Given the description of an element on the screen output the (x, y) to click on. 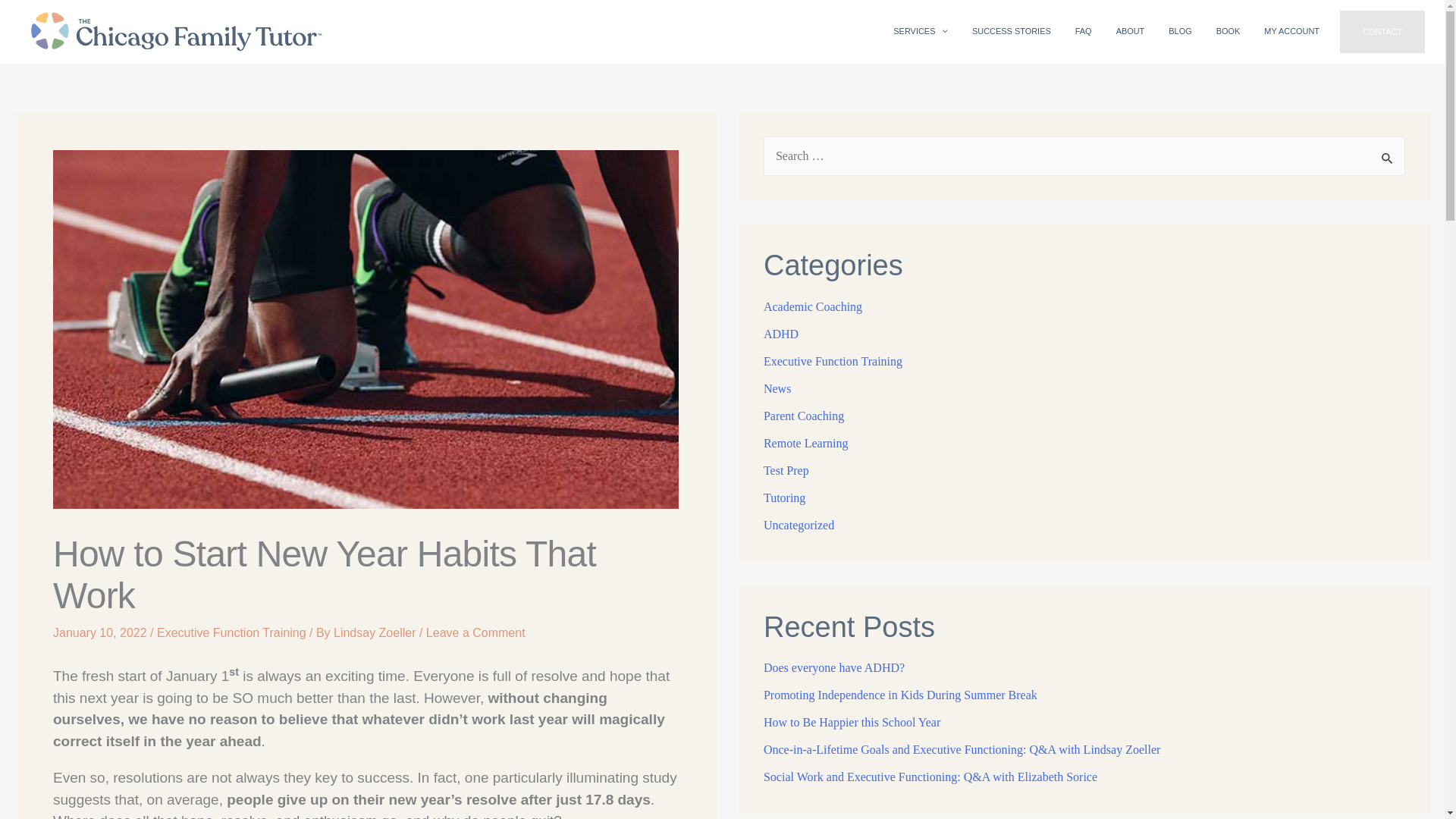
View all posts by Lindsay Zoeller (376, 632)
ABOUT (1130, 31)
SUCCESS STORIES (1010, 31)
CONTACT (1382, 31)
SERVICES (919, 31)
BLOG (1180, 31)
MY ACCOUNT (1292, 31)
BOOK (1228, 31)
